Given the description of an element on the screen output the (x, y) to click on. 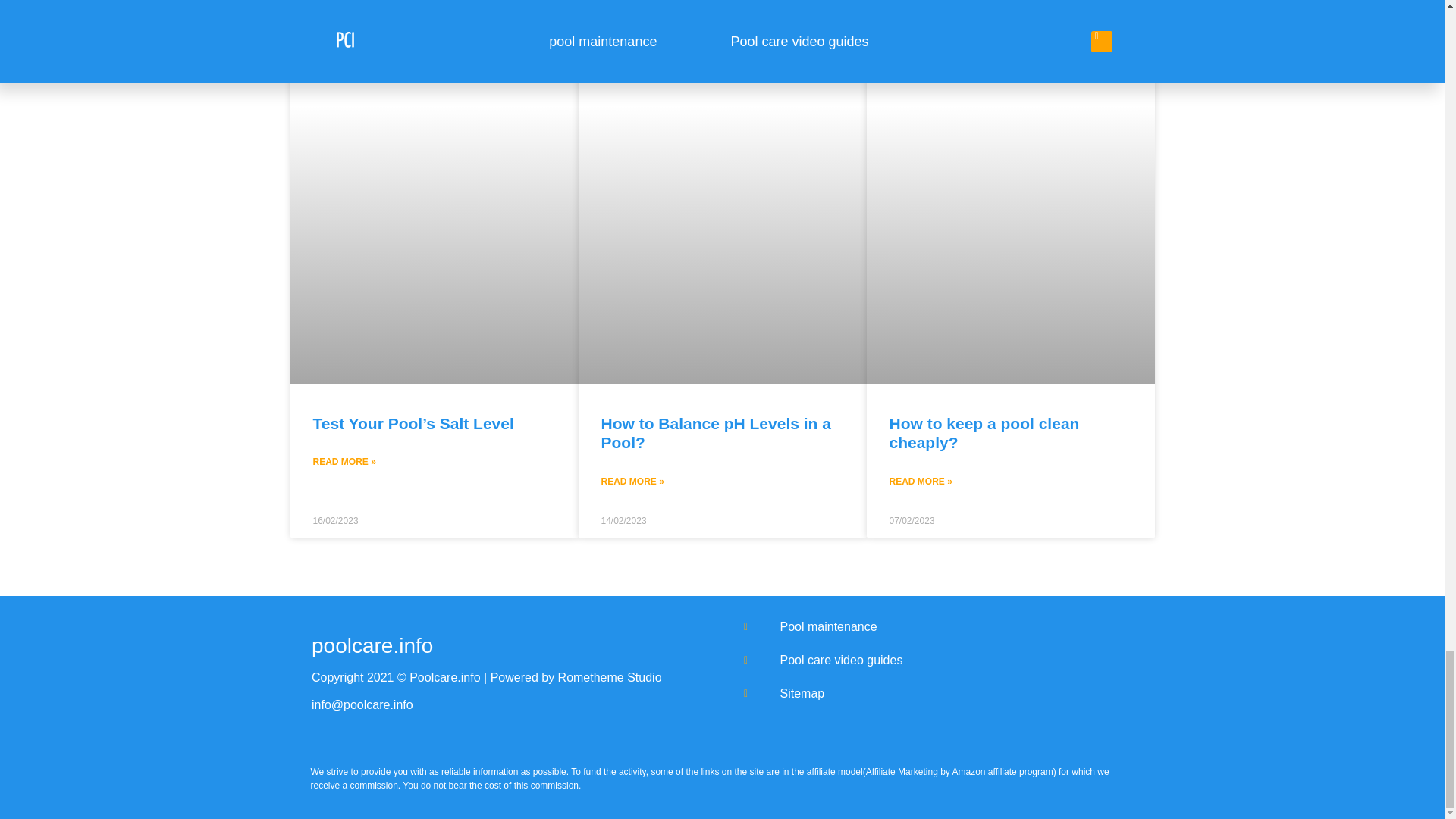
How to keep a pool clean cheaply? (983, 432)
How to Balance pH Levels in a Pool? (714, 432)
poolcare.info (371, 645)
Pool maintenance (938, 627)
Sitemap (938, 693)
Pool care video guides (938, 660)
